Given the description of an element on the screen output the (x, y) to click on. 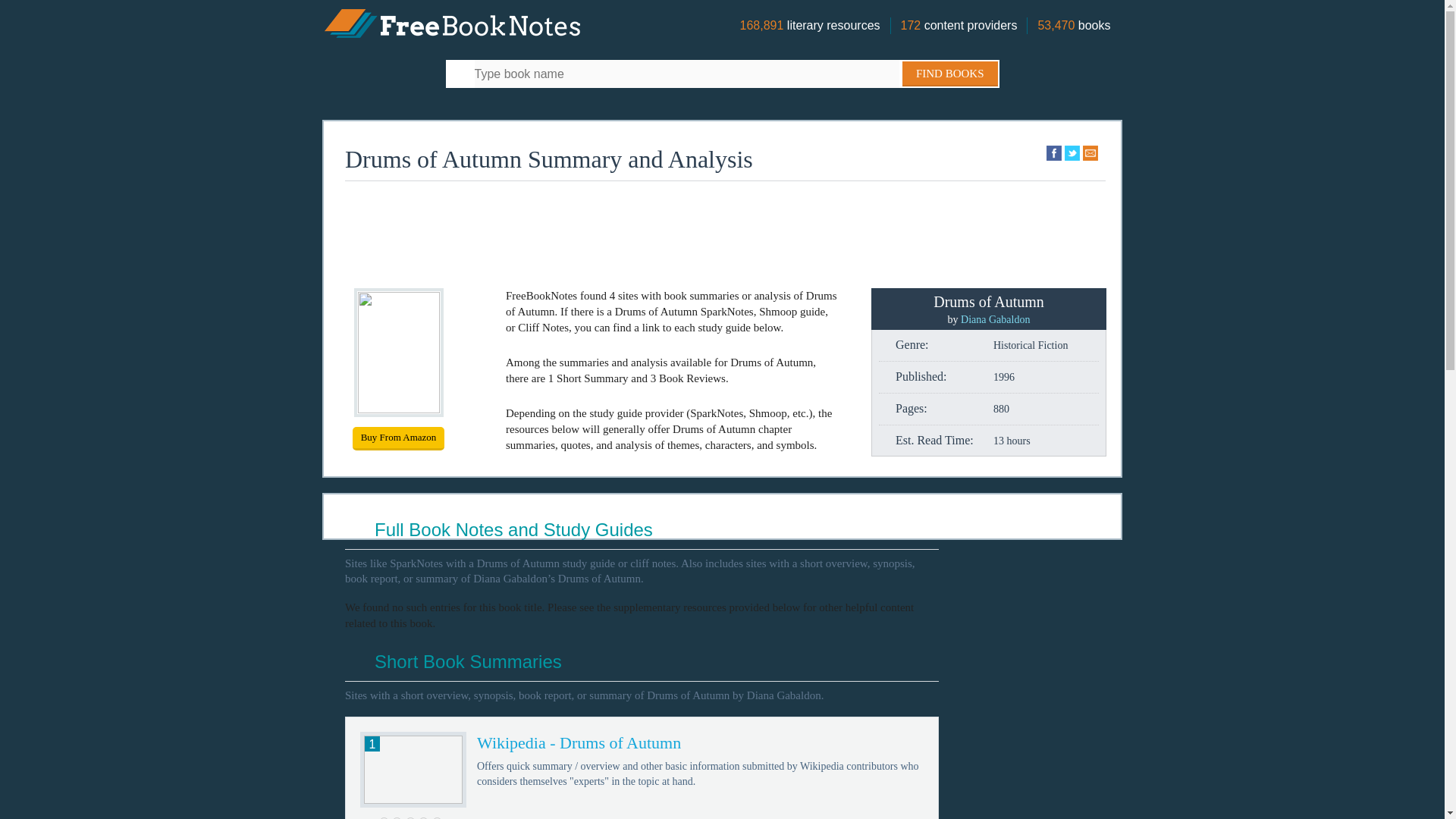
Twitter (1072, 151)
Message (1090, 151)
FIND BOOKS (949, 73)
Facebook (1053, 151)
FreeBookNotes (451, 21)
FIND BOOKS (949, 73)
